Given the description of an element on the screen output the (x, y) to click on. 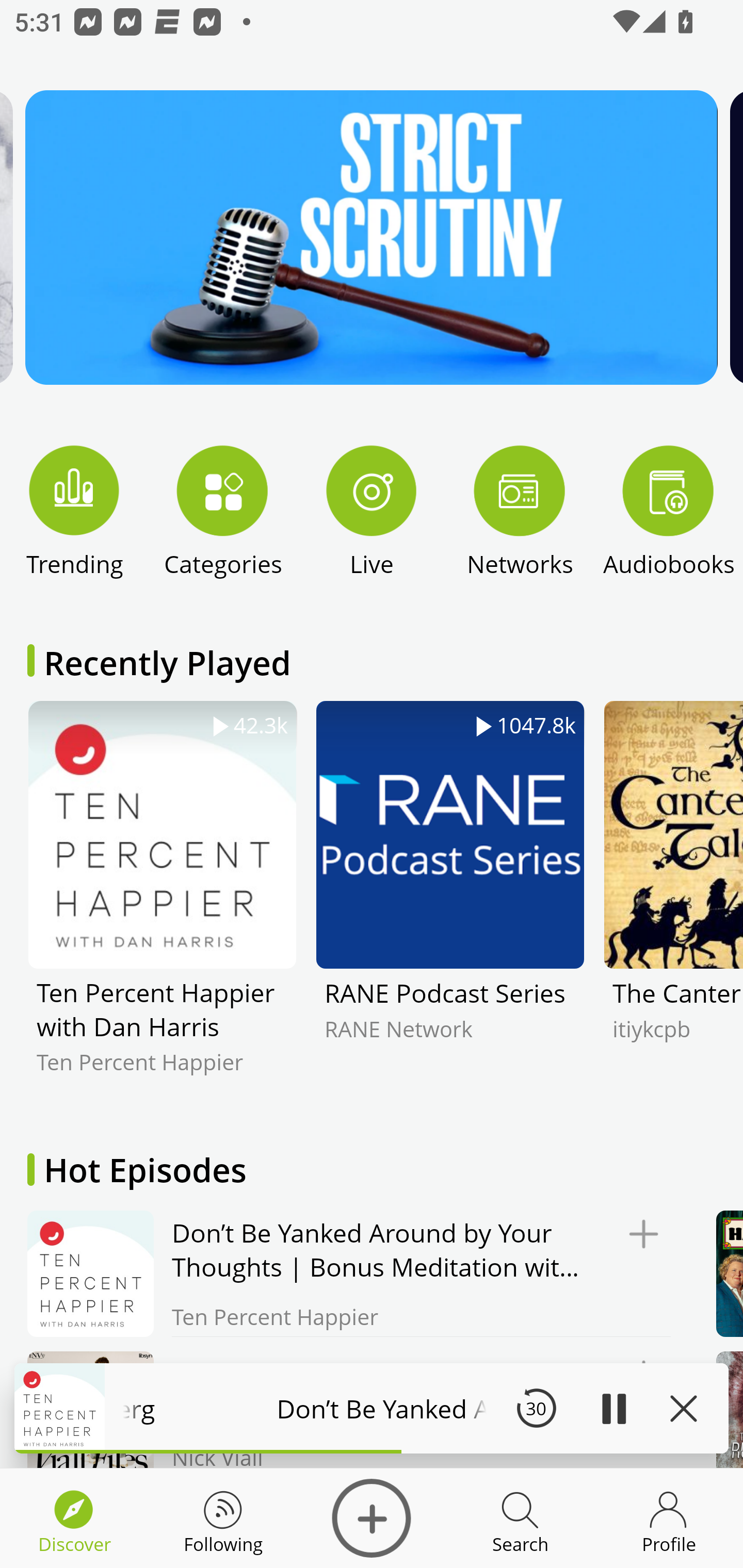
1047.8k RANE Podcast Series RANE Network (450, 902)
The Canterbury Tales itiykcpb (673, 902)
Play (613, 1407)
30 Seek Backward (536, 1407)
Discover Following (222, 1518)
Discover (371, 1518)
Discover Search (519, 1518)
Discover Profile (668, 1518)
